Given the description of an element on the screen output the (x, y) to click on. 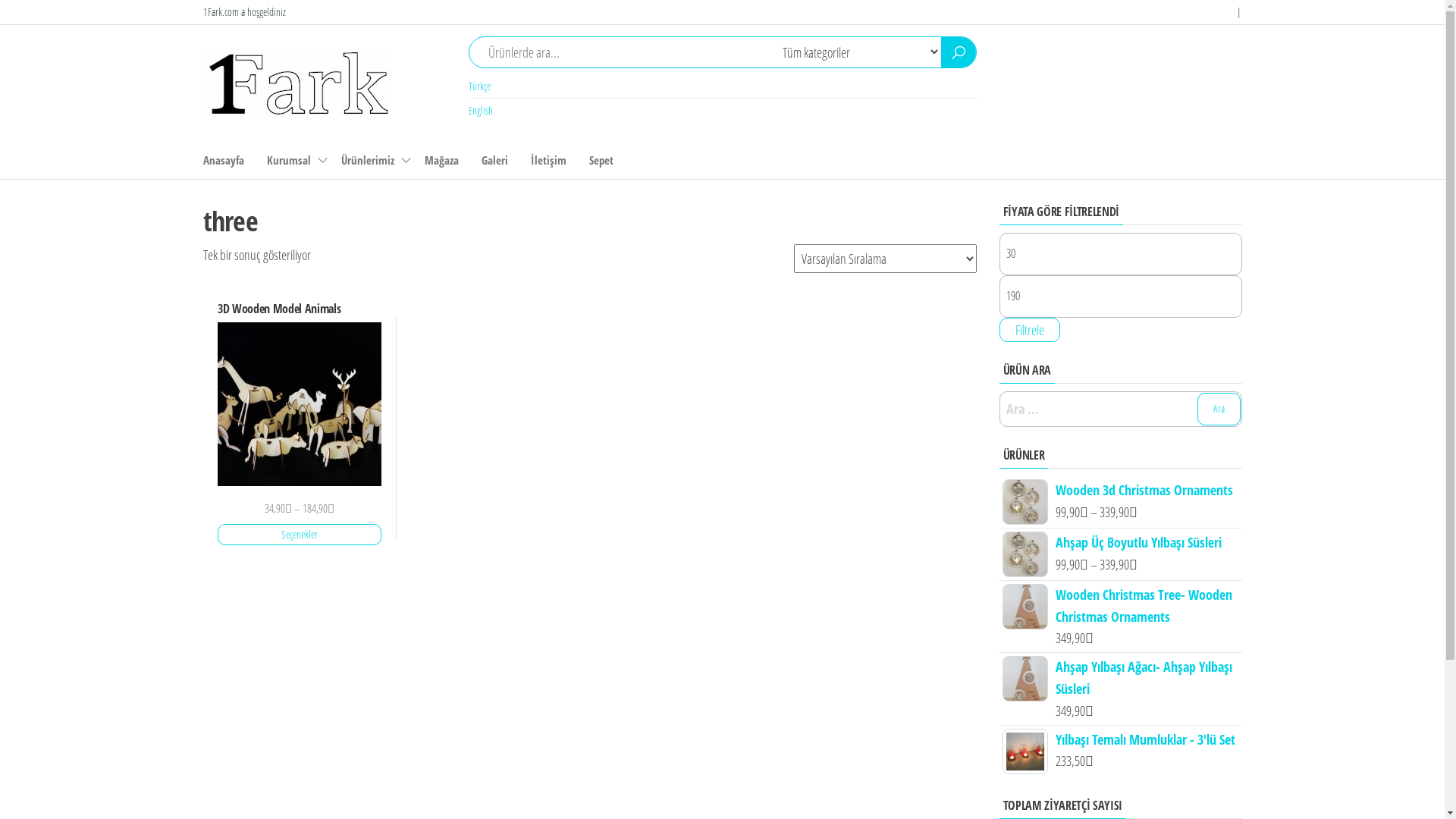
Ara Element type: text (1217, 408)
1Fark.com Element type: text (441, 59)
English Element type: text (480, 110)
Wooden Christmas Tree- Wooden Christmas Ornaments Element type: text (1120, 605)
Sepet Element type: text (600, 159)
Kurumsal Element type: text (291, 159)
Galeri Element type: text (494, 159)
Wooden 3d Christmas Ornaments Element type: text (1120, 490)
Filtrele Element type: text (1029, 329)
Anasayfa Element type: text (222, 159)
